Given the description of an element on the screen output the (x, y) to click on. 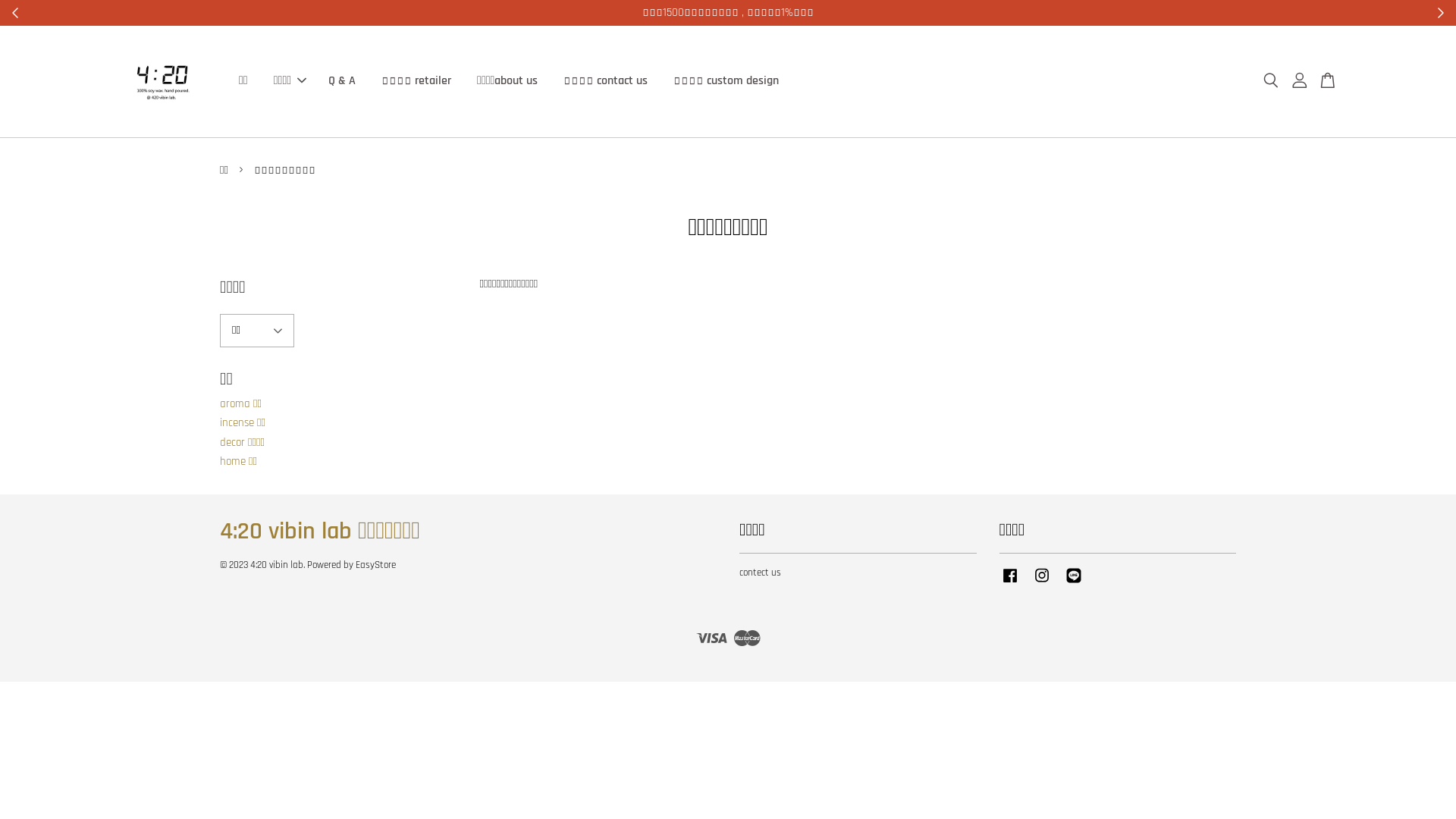
icon-facebook
Facebook Element type: text (1009, 583)
icon-instagram
Instagram Element type: text (1041, 583)
EasyStore Element type: text (375, 564)
contect us Element type: text (760, 572)
Q & A Element type: text (341, 80)
icon-line
Line Element type: text (1073, 583)
